Given the description of an element on the screen output the (x, y) to click on. 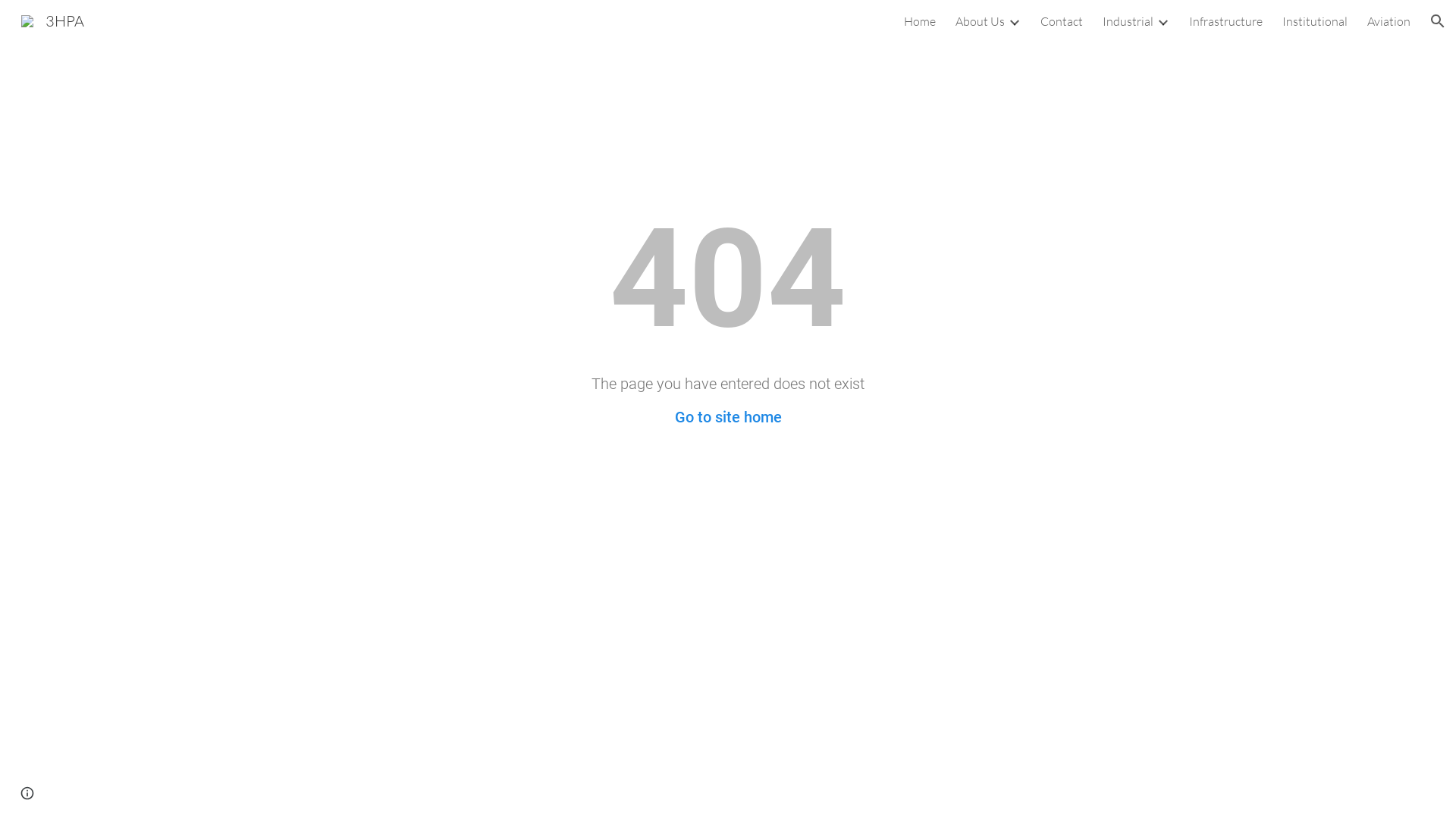
Expand/Collapse Element type: hover (1162, 20)
3HPA Element type: text (52, 18)
Aviation Element type: text (1388, 20)
About Us Element type: text (979, 20)
Home Element type: text (919, 20)
Expand/Collapse Element type: hover (1013, 20)
Contact Element type: text (1061, 20)
Infrastructure Element type: text (1225, 20)
Institutional Element type: text (1314, 20)
Industrial Element type: text (1127, 20)
Go to site home Element type: text (727, 416)
